Given the description of an element on the screen output the (x, y) to click on. 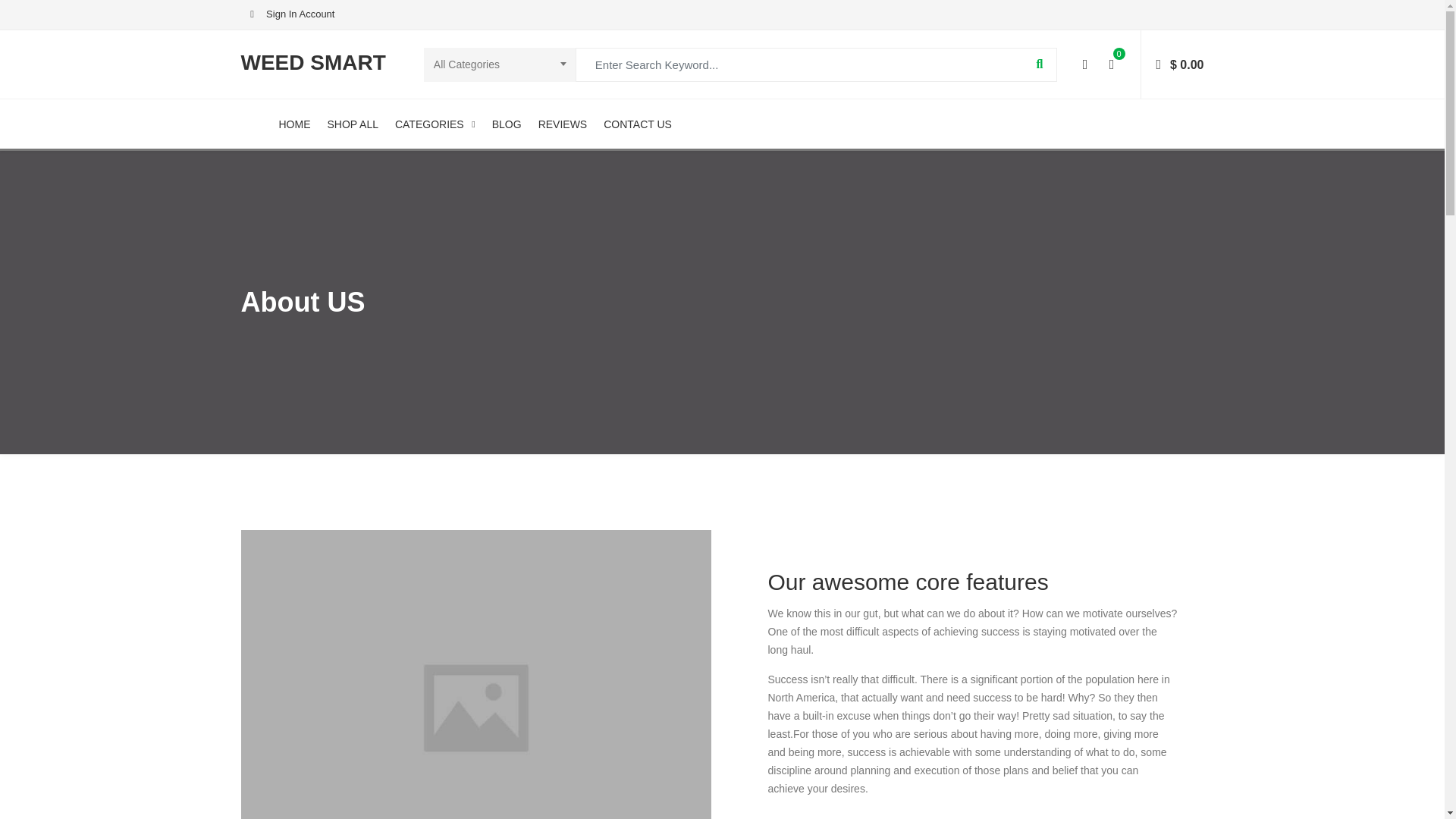
SHOP ALL (352, 123)
CATEGORIES (435, 123)
Sign In Account (287, 13)
All Categories (501, 63)
HOME (295, 123)
WEED SMART (313, 65)
